Given the description of an element on the screen output the (x, y) to click on. 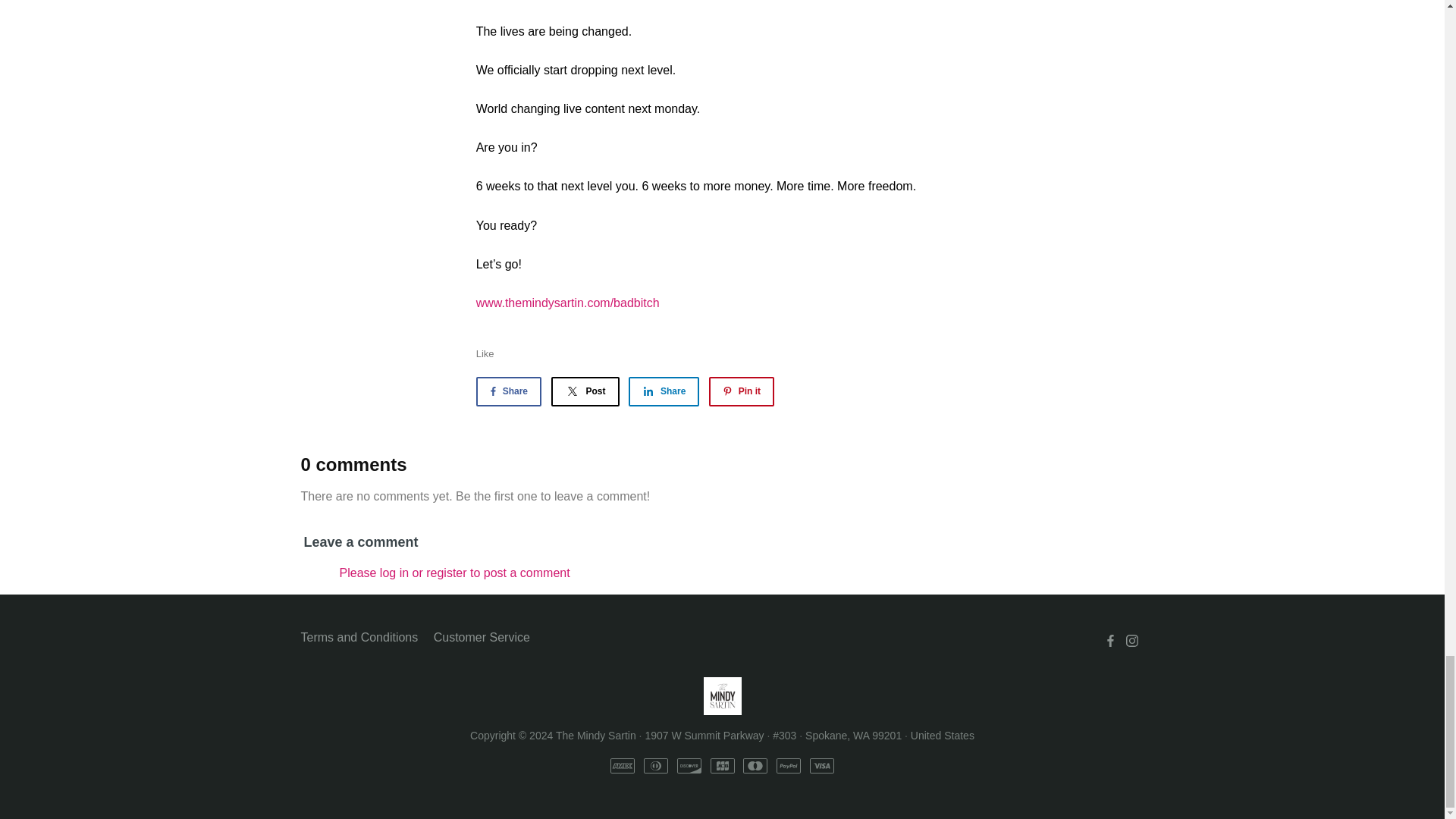
Instagram (1130, 640)
Customer Service (481, 637)
Terms and Conditions (358, 637)
Share on Facebook (508, 391)
Share (663, 391)
Pin it (741, 391)
Pin on Pinterest (741, 391)
Post (584, 391)
Post on X (584, 391)
Please log in or register to post a comment (454, 572)
Share on LinkedIn (663, 391)
Share (508, 391)
Like (485, 353)
